Given the description of an element on the screen output the (x, y) to click on. 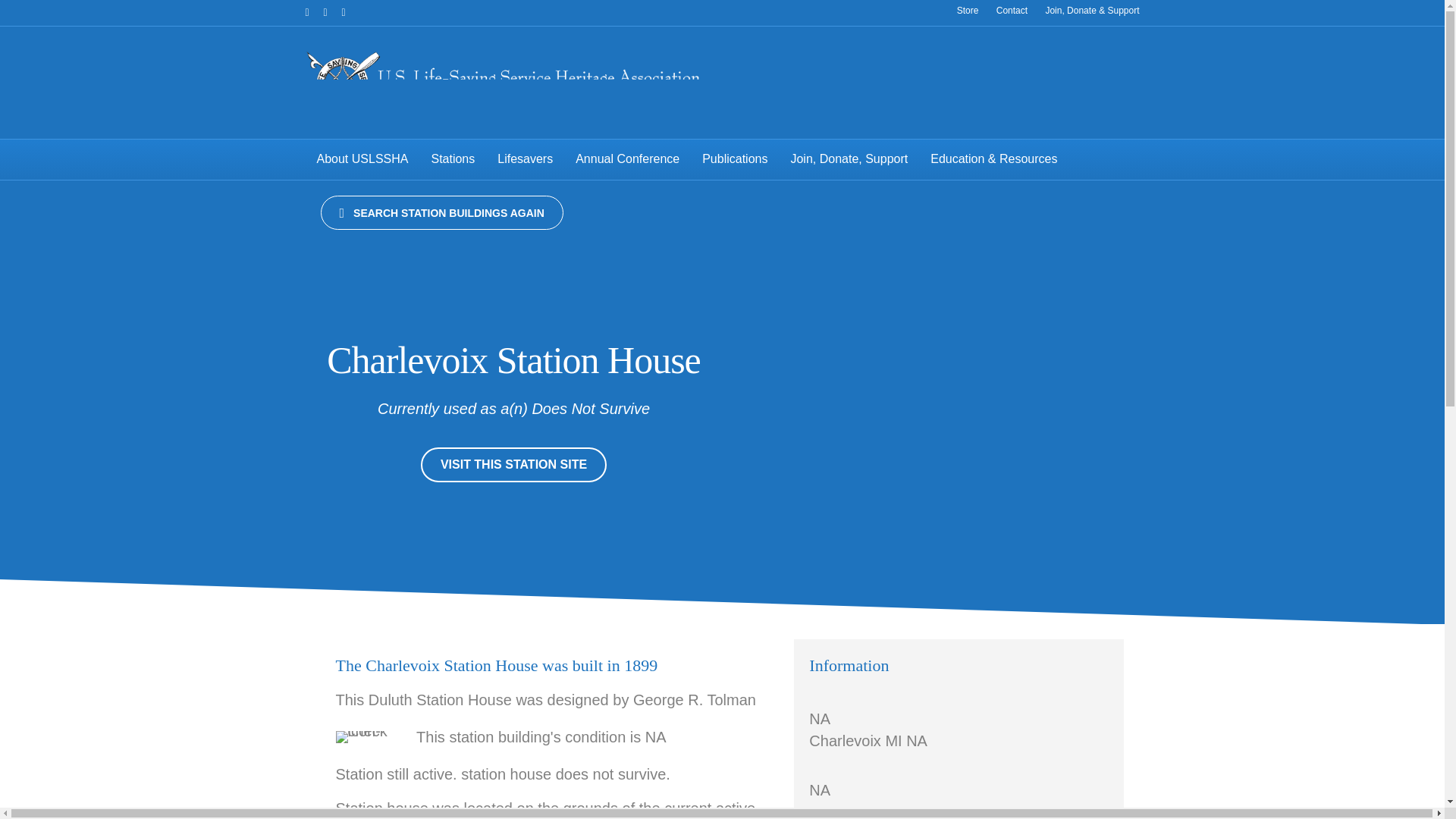
icon-check (371, 736)
Stations (452, 159)
Facebook (313, 11)
Contact (1011, 10)
Twitter (331, 11)
Publications (734, 159)
About USLSSHA (361, 159)
Email (349, 11)
Annual Conference (627, 159)
Lifesavers (525, 159)
Store (968, 10)
